Given the description of an element on the screen output the (x, y) to click on. 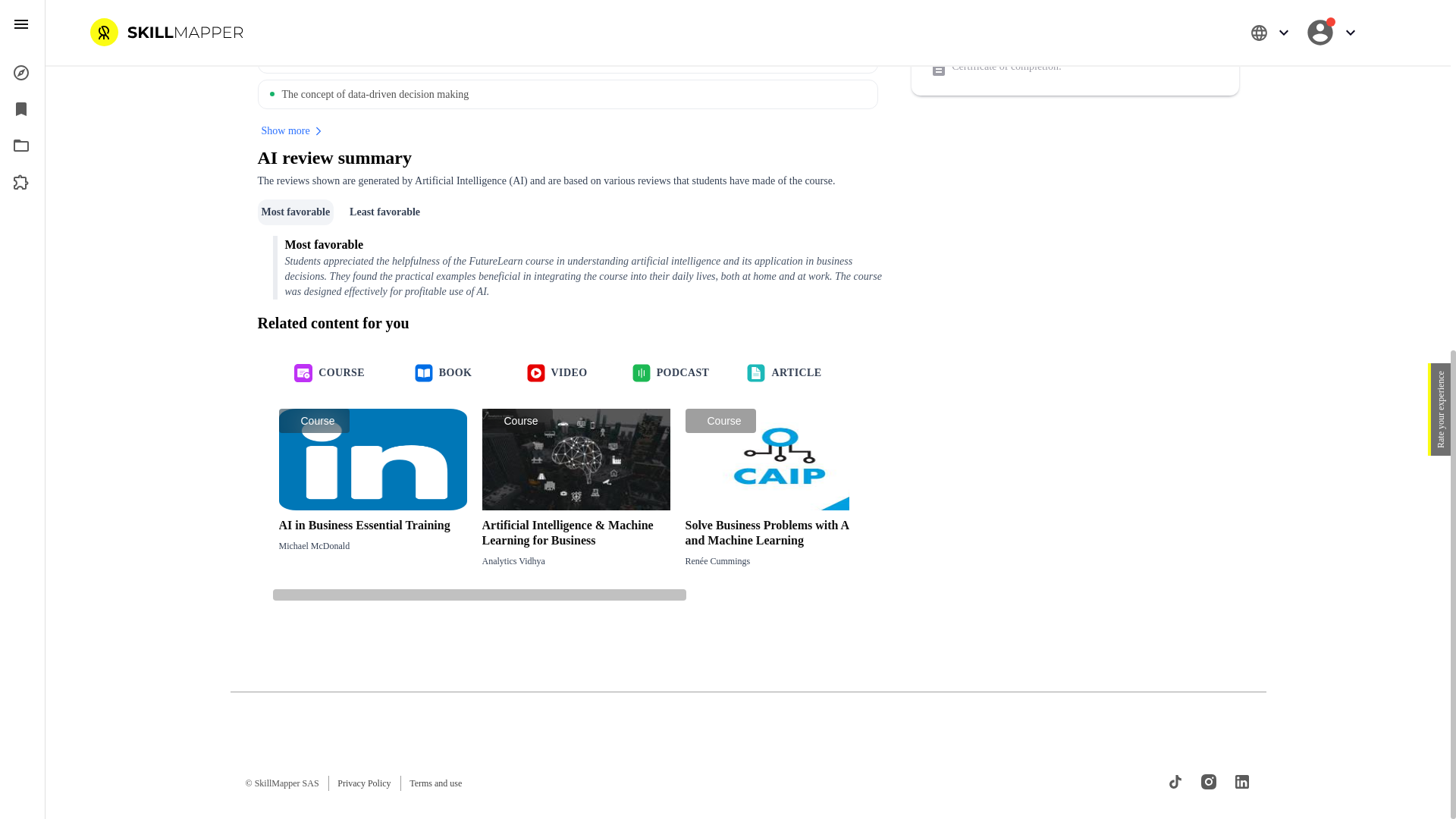
BOOK (443, 372)
ARTICLE (784, 372)
VIDEO (557, 372)
COURSE (330, 372)
Analytics Vidhya (976, 495)
PODCAST (569, 561)
Doug Rose (671, 372)
Terms and use (976, 561)
AI in Business Essential Training (435, 783)
